Given the description of an element on the screen output the (x, y) to click on. 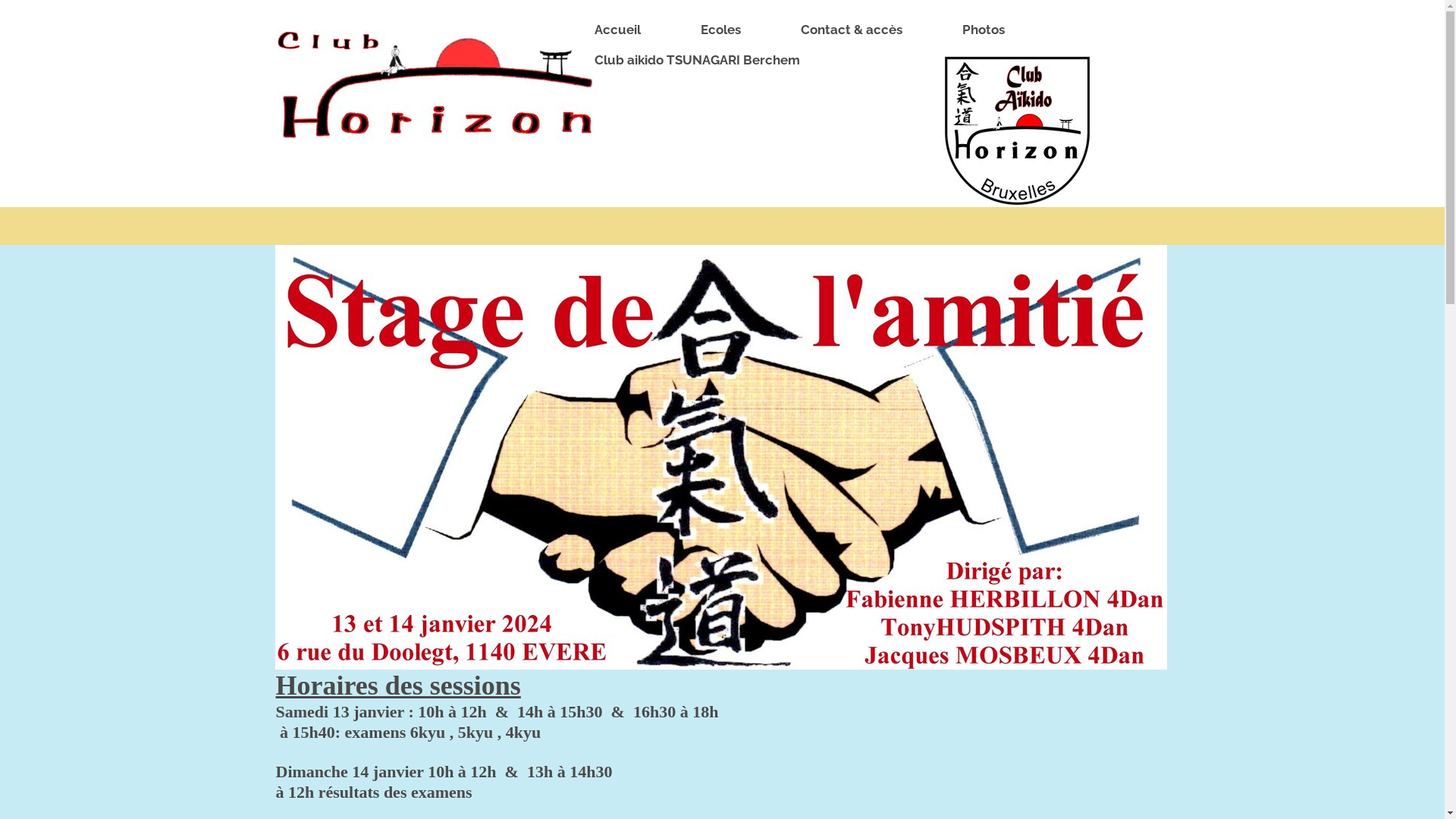
Ecoles Element type: text (727, 30)
Photos Element type: text (989, 30)
Accueil Element type: text (624, 30)
Club aikido TSUNAGARI Berchem Element type: text (704, 60)
